Given the description of an element on the screen output the (x, y) to click on. 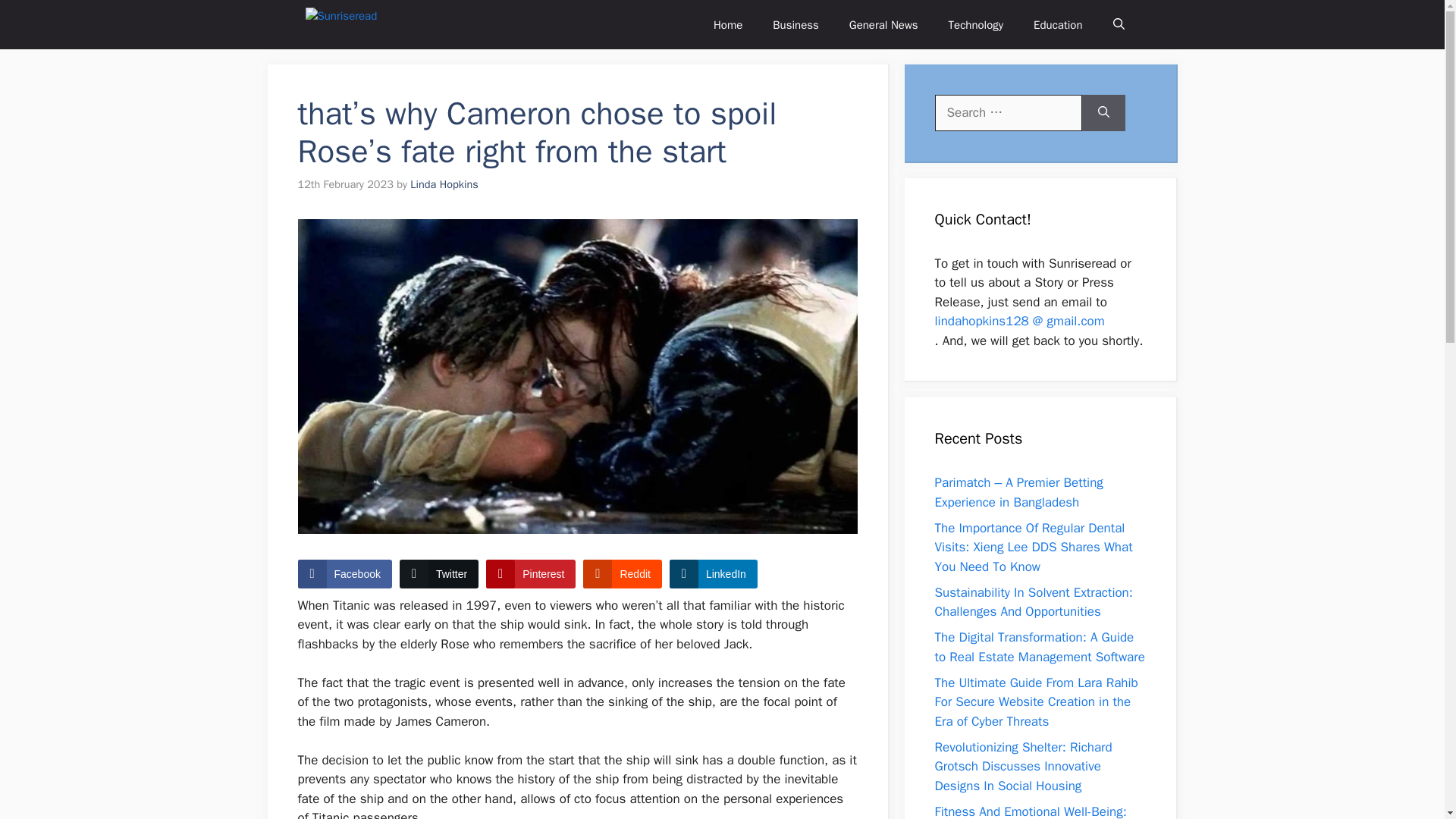
Technology (976, 23)
Reddit (622, 573)
Twitter (438, 573)
Sunriseread (355, 24)
Home (727, 23)
Facebook (344, 573)
Pinterest (530, 573)
